Given the description of an element on the screen output the (x, y) to click on. 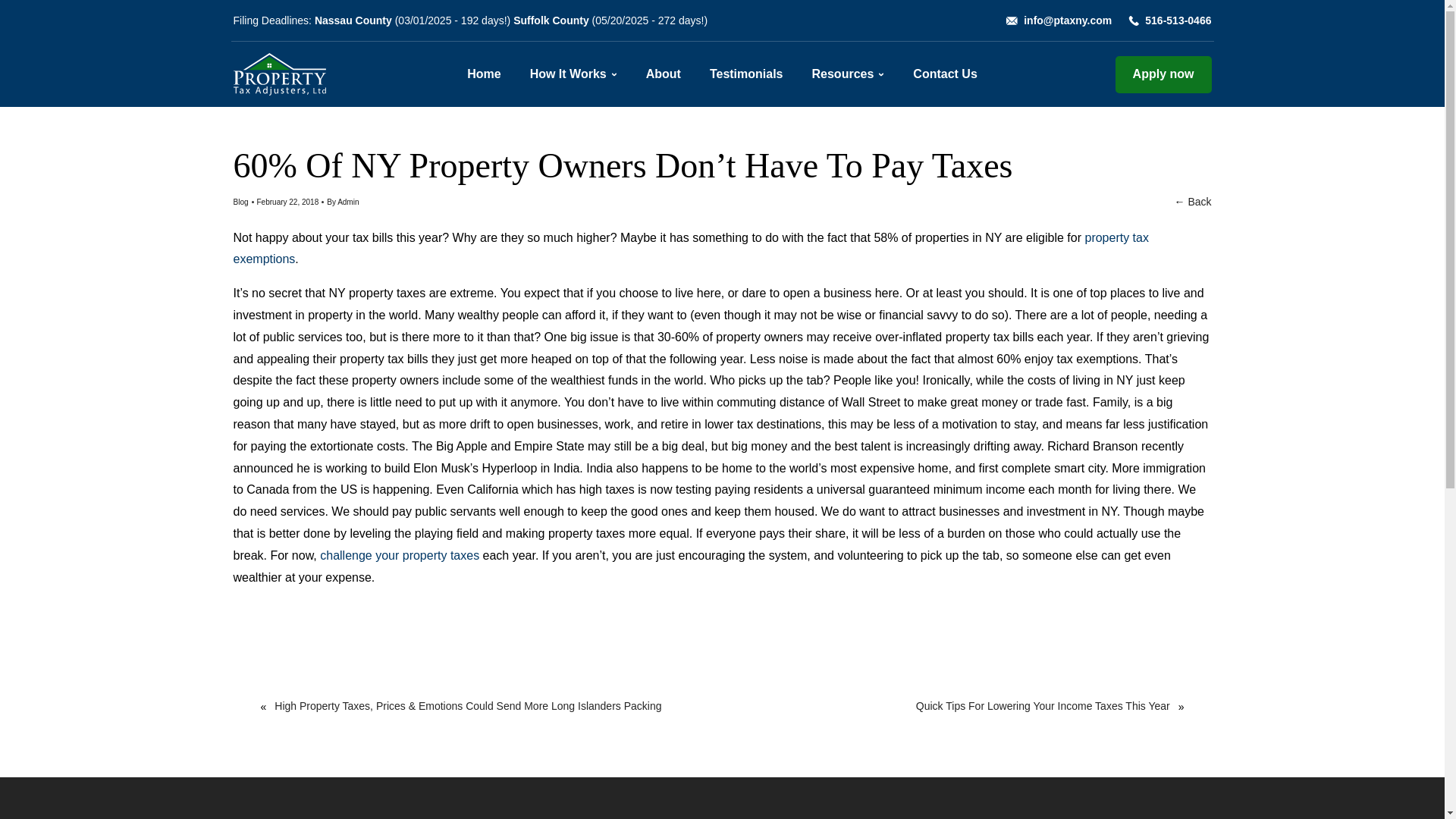
Apply now (1163, 74)
property tax exemptions (690, 248)
Resources (843, 74)
516-513-0466 (1177, 20)
Quick Tips For Lowering Your Income Taxes This Year (1033, 706)
Testimonials (746, 74)
Home (483, 74)
Contact Us (944, 74)
challenge your property taxes (398, 554)
How It Works (568, 74)
